Given the description of an element on the screen output the (x, y) to click on. 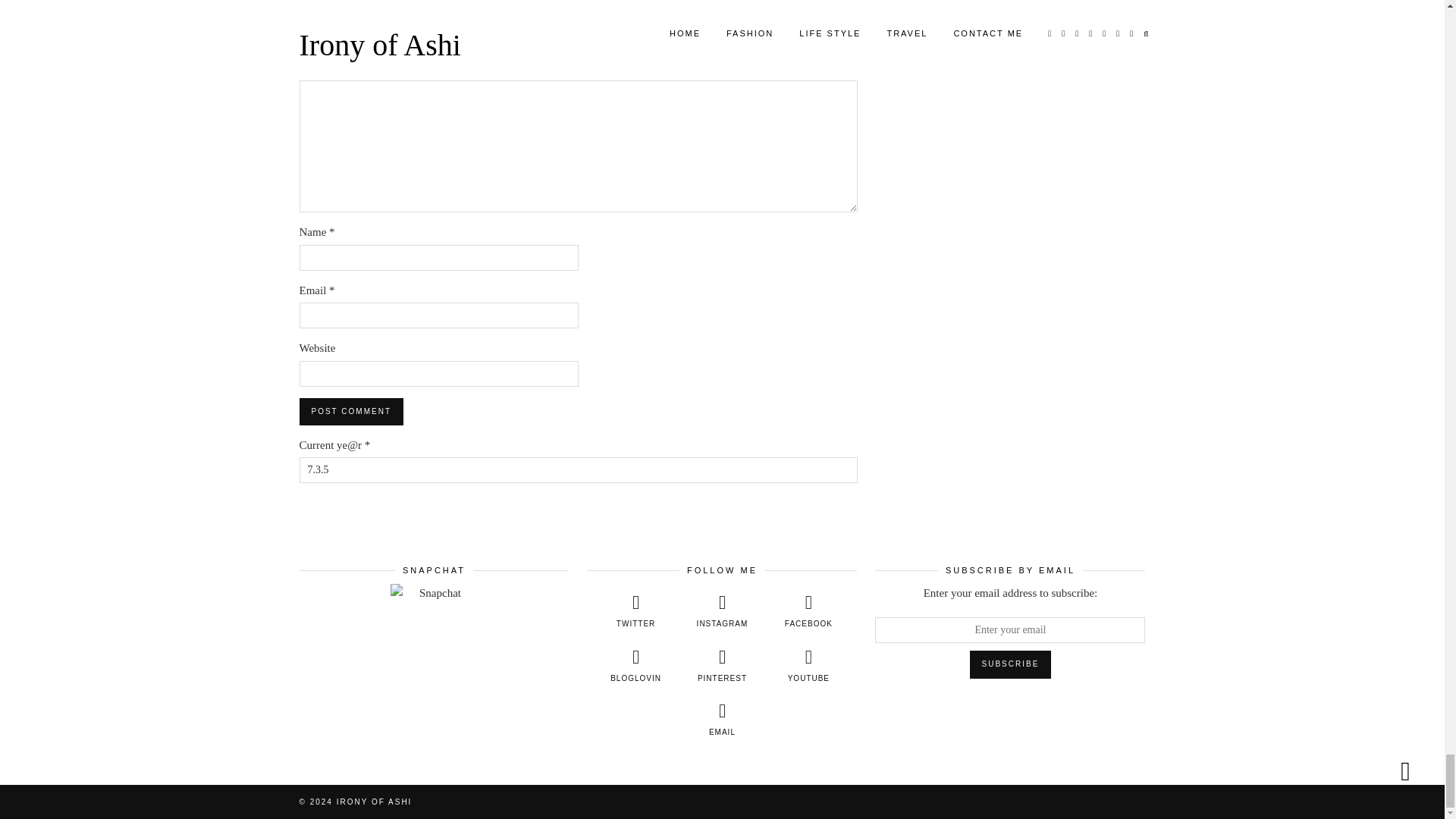
Subscribe (1010, 664)
Post Comment (350, 411)
7.3.5 (577, 470)
